Given the description of an element on the screen output the (x, y) to click on. 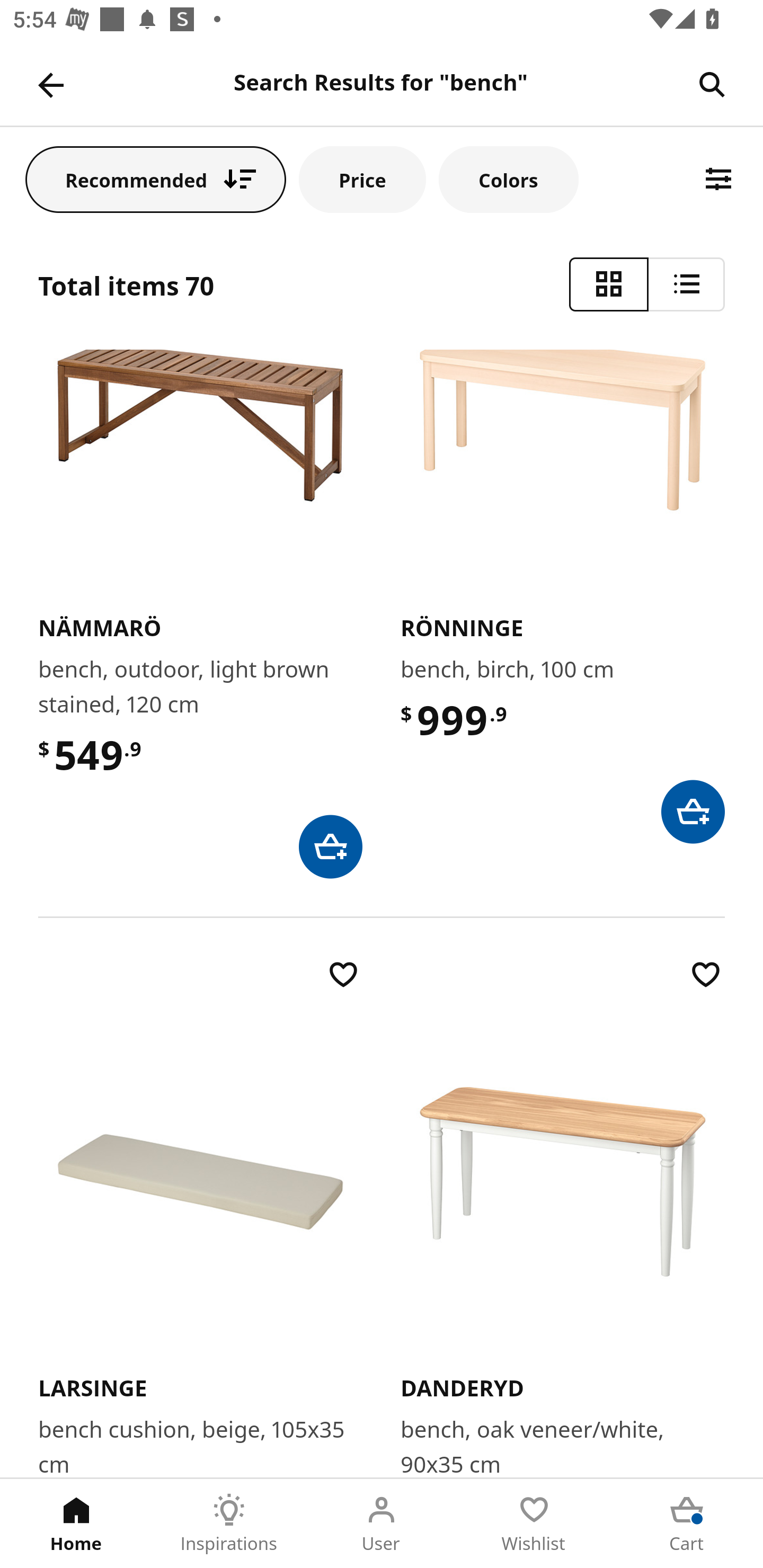
Recommended (155, 179)
Price (362, 179)
Colors (508, 179)
​R​Ö​N​N​I​N​G​E​
bench, birch, 100 cm
$
999
.9 (562, 596)
Home
Tab 1 of 5 (76, 1522)
Inspirations
Tab 2 of 5 (228, 1522)
User
Tab 3 of 5 (381, 1522)
Wishlist
Tab 4 of 5 (533, 1522)
Cart
Tab 5 of 5 (686, 1522)
